Given the description of an element on the screen output the (x, y) to click on. 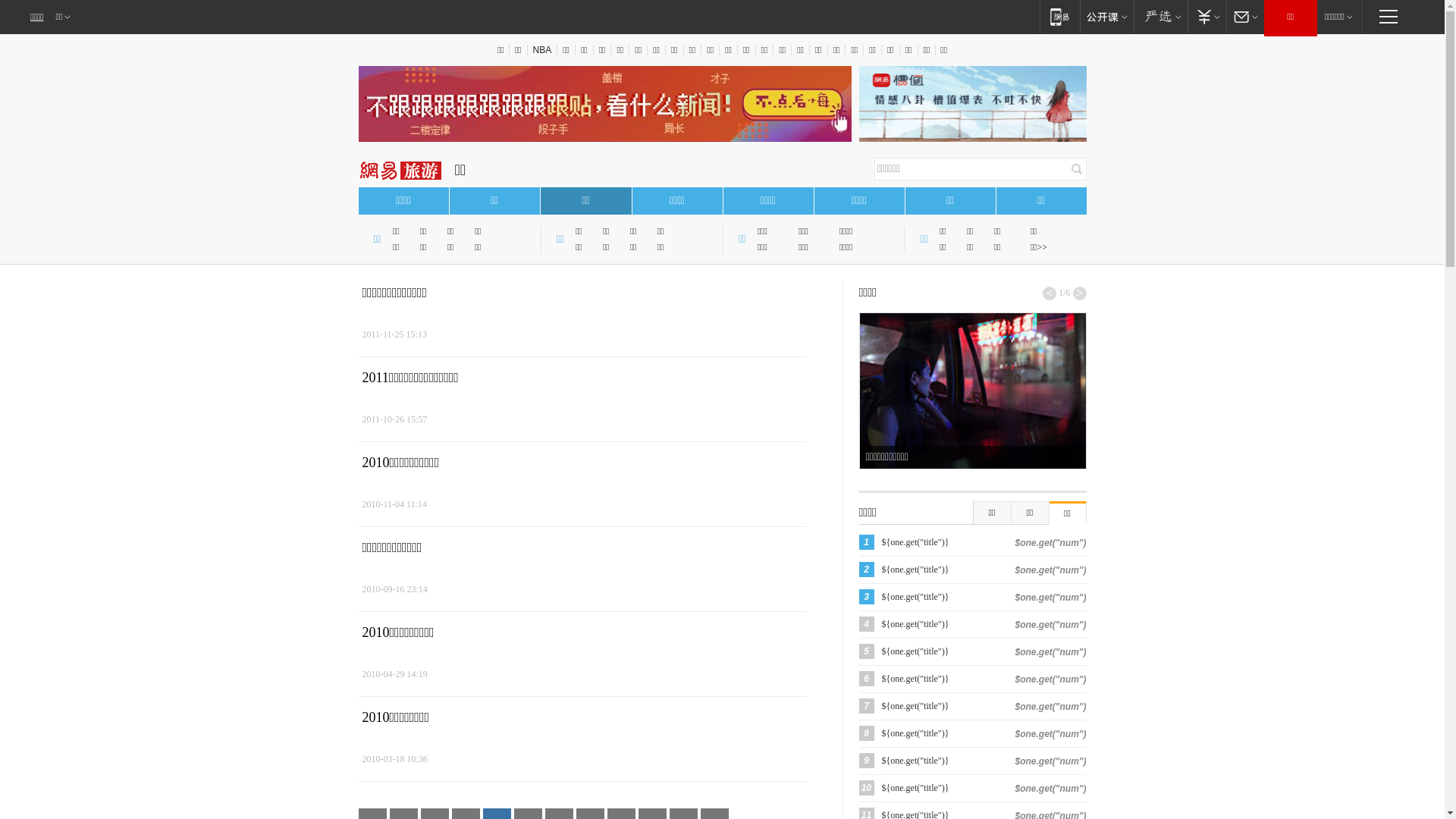
> Element type: text (1078, 293)
NBA Element type: text (541, 49)
< Element type: text (1049, 293)
